Given the description of an element on the screen output the (x, y) to click on. 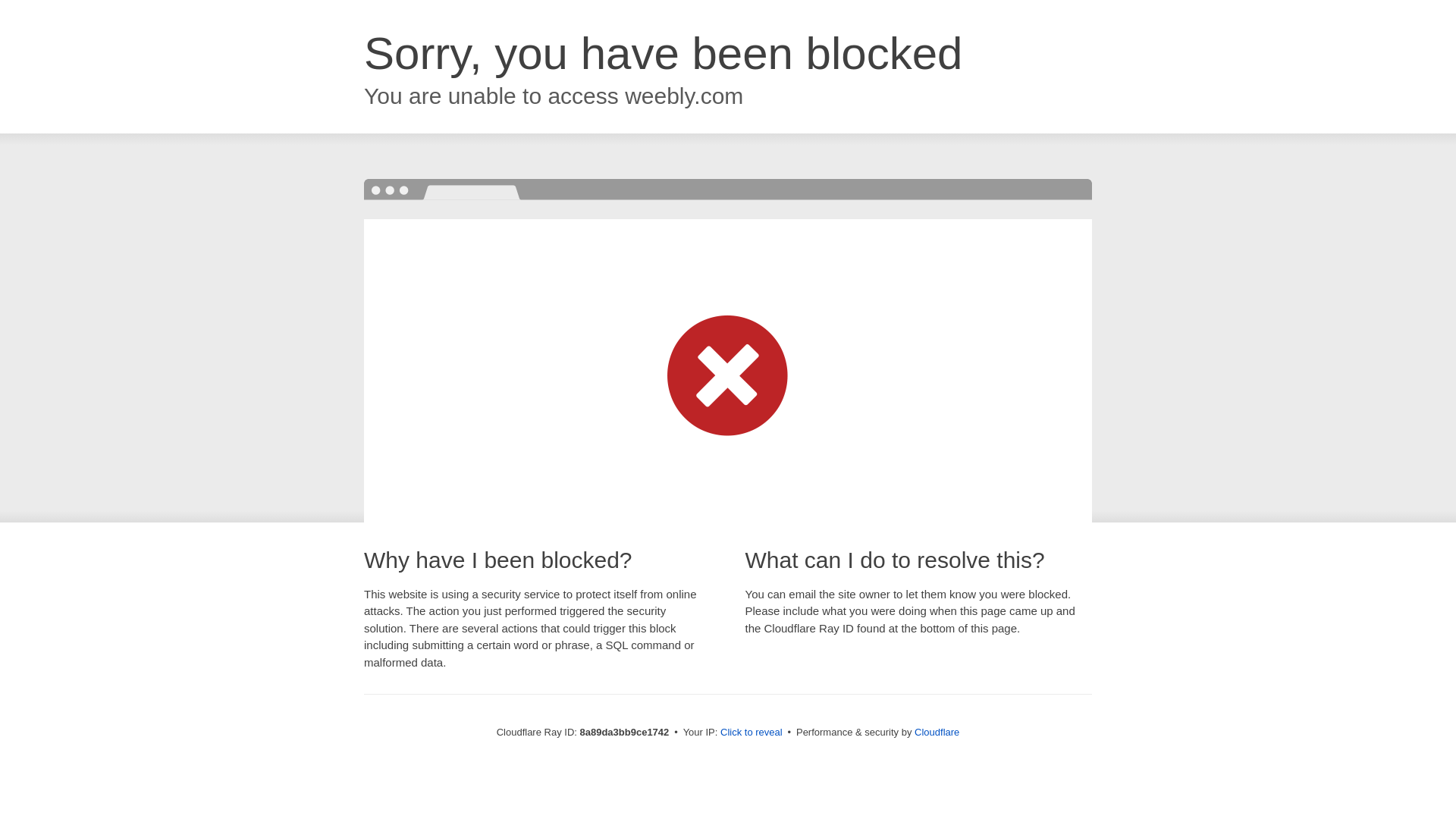
Click to reveal (751, 732)
Cloudflare (936, 731)
